Given the description of an element on the screen output the (x, y) to click on. 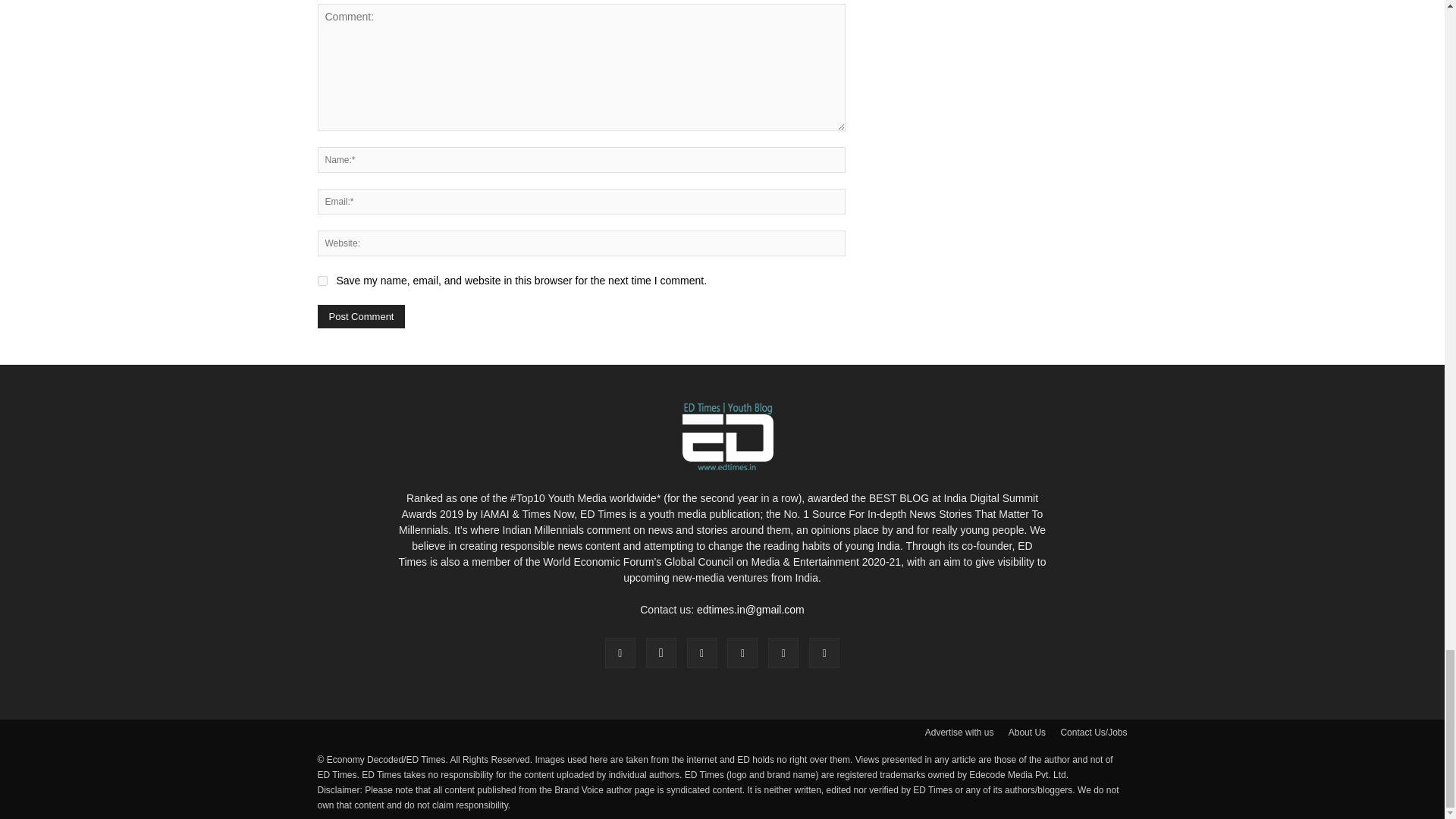
yes (321, 280)
Post Comment (360, 316)
